Given the description of an element on the screen output the (x, y) to click on. 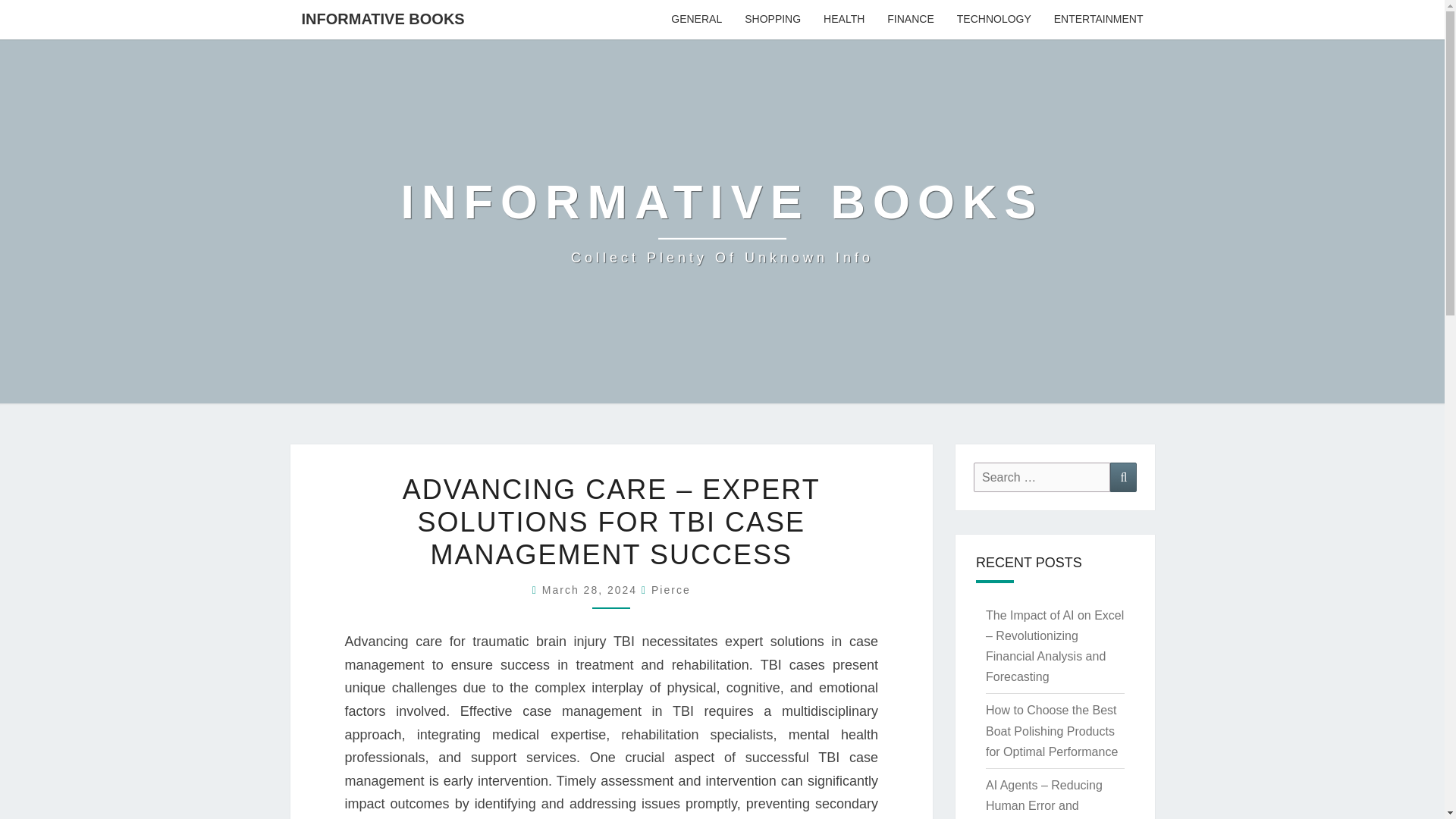
ENTERTAINMENT (1098, 19)
FINANCE (910, 19)
Informative books (722, 221)
Pierce (670, 589)
HEALTH (844, 19)
TECHNOLOGY (993, 19)
March 28, 2024 (591, 589)
View all posts by Pierce (670, 589)
GENERAL (696, 19)
Search for: (1041, 477)
7:19 am (722, 221)
INFORMATIVE BOOKS (591, 589)
SHOPPING (382, 18)
Search (772, 19)
